Given the description of an element on the screen output the (x, y) to click on. 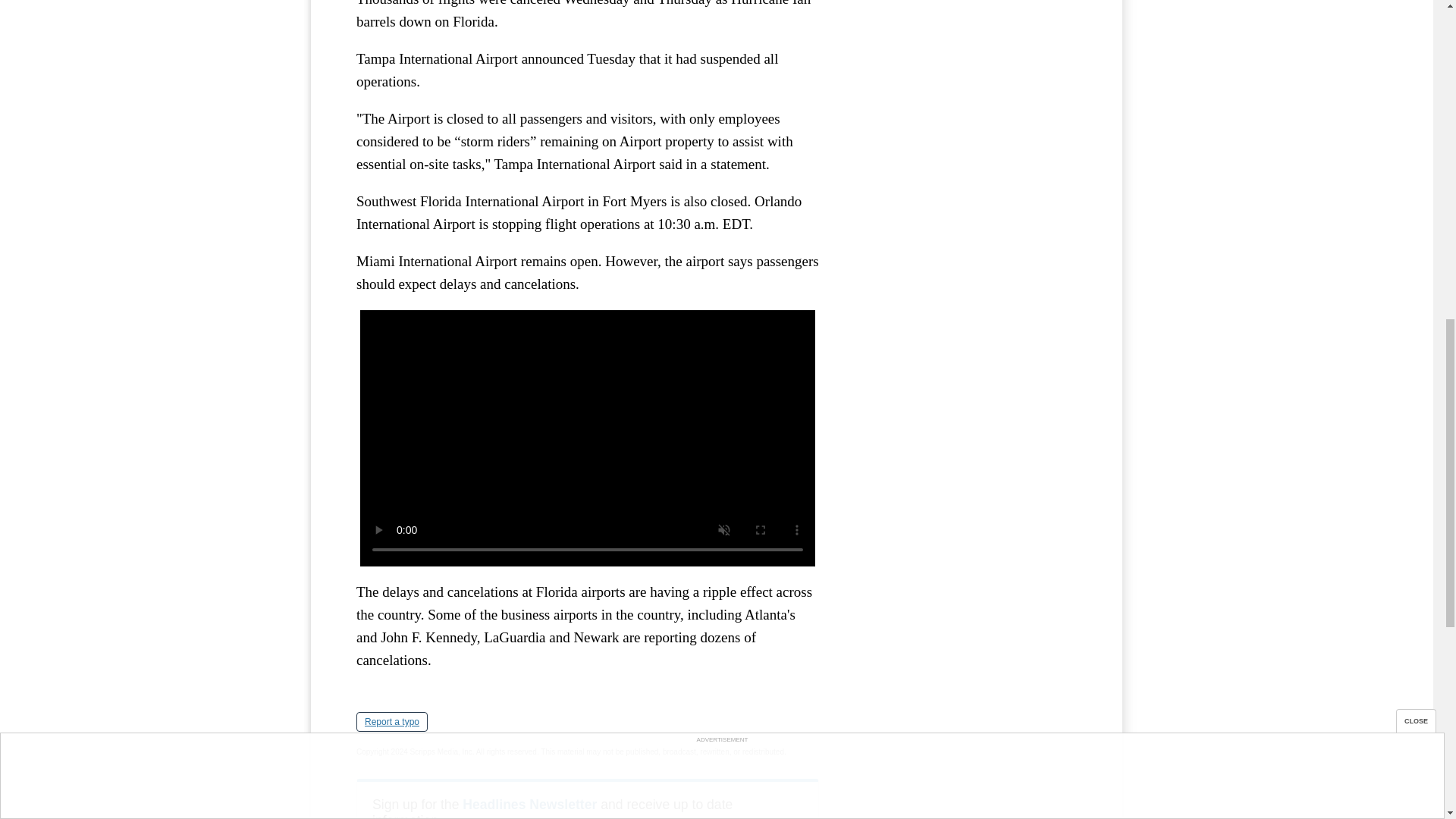
3rd party ad content (962, 58)
